Given the description of an element on the screen output the (x, y) to click on. 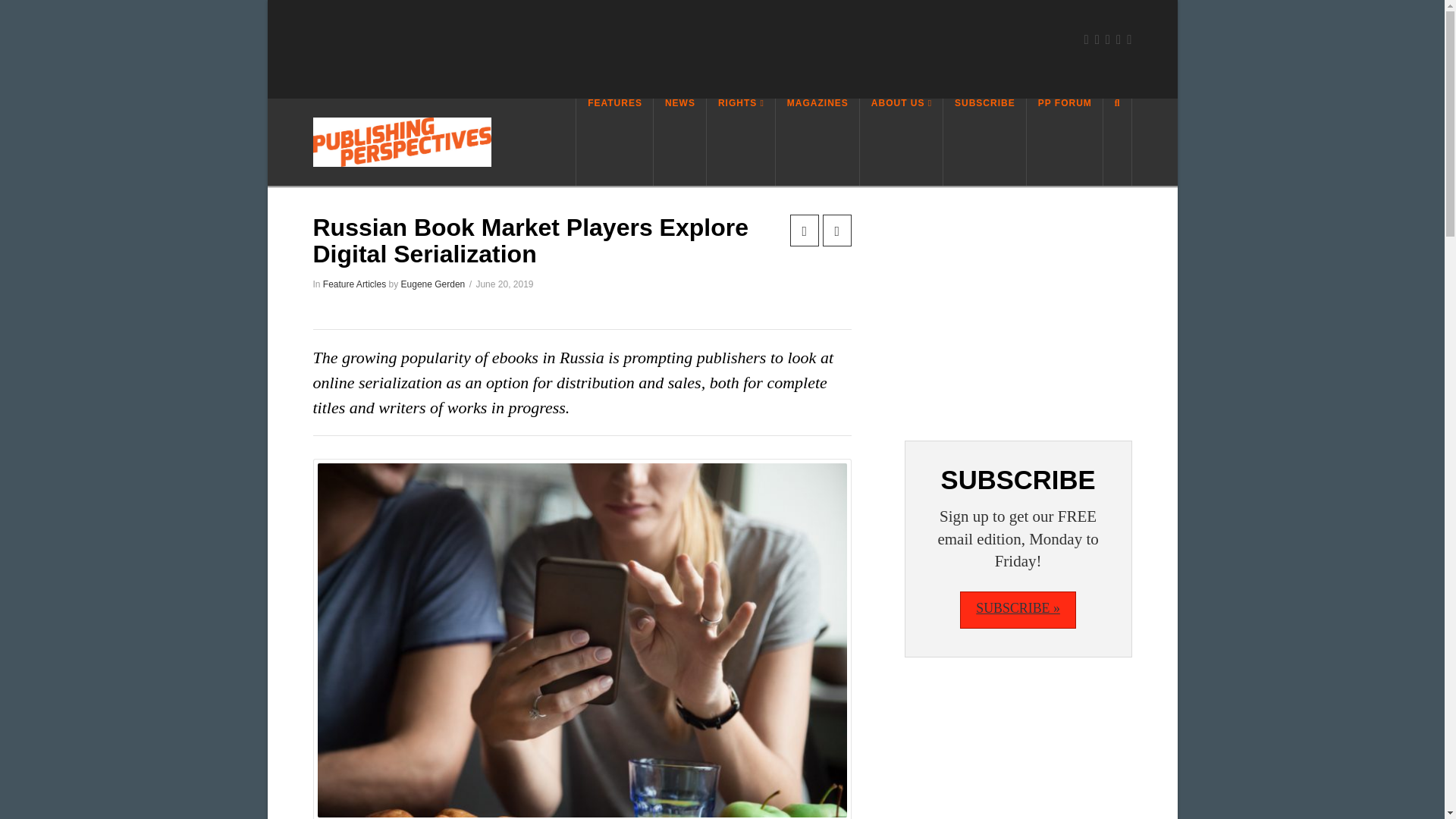
ABOUT US (901, 141)
Eugene Gerden (433, 284)
MAGAZINES (818, 141)
FEATURES (614, 141)
SUBSCRIBE (984, 141)
Feature Articles (354, 284)
